Given the description of an element on the screen output the (x, y) to click on. 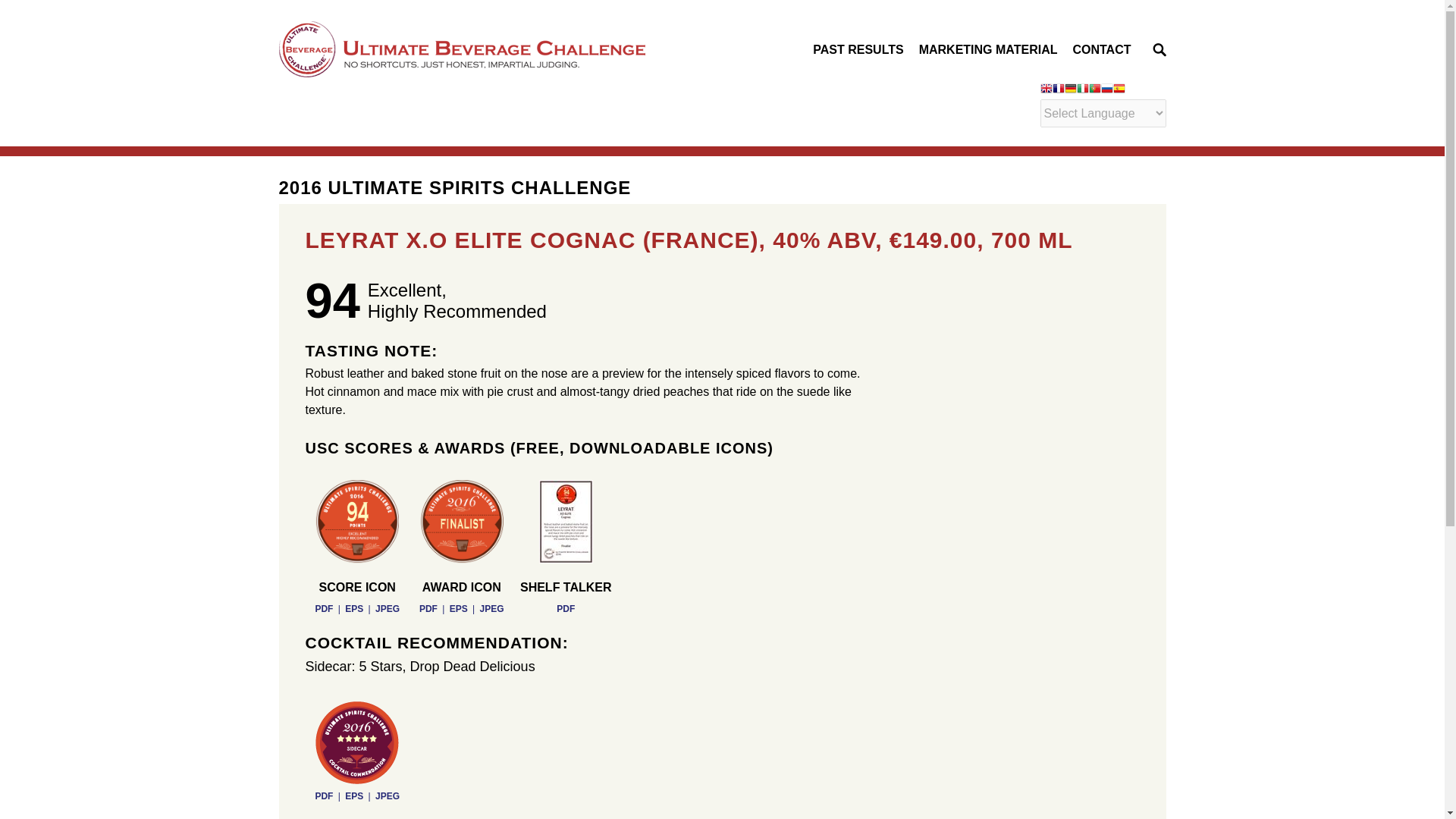
EPS (353, 608)
Portuguese (1094, 89)
PDF (428, 608)
PDF (565, 608)
MARKETING MATERIAL (988, 49)
German (1070, 89)
EPS (353, 796)
Spanish (1119, 89)
French (1058, 89)
JPEG (386, 608)
JPEG (386, 796)
English (1046, 89)
Italian (1083, 89)
JPEG (491, 608)
PDF (323, 608)
